Given the description of an element on the screen output the (x, y) to click on. 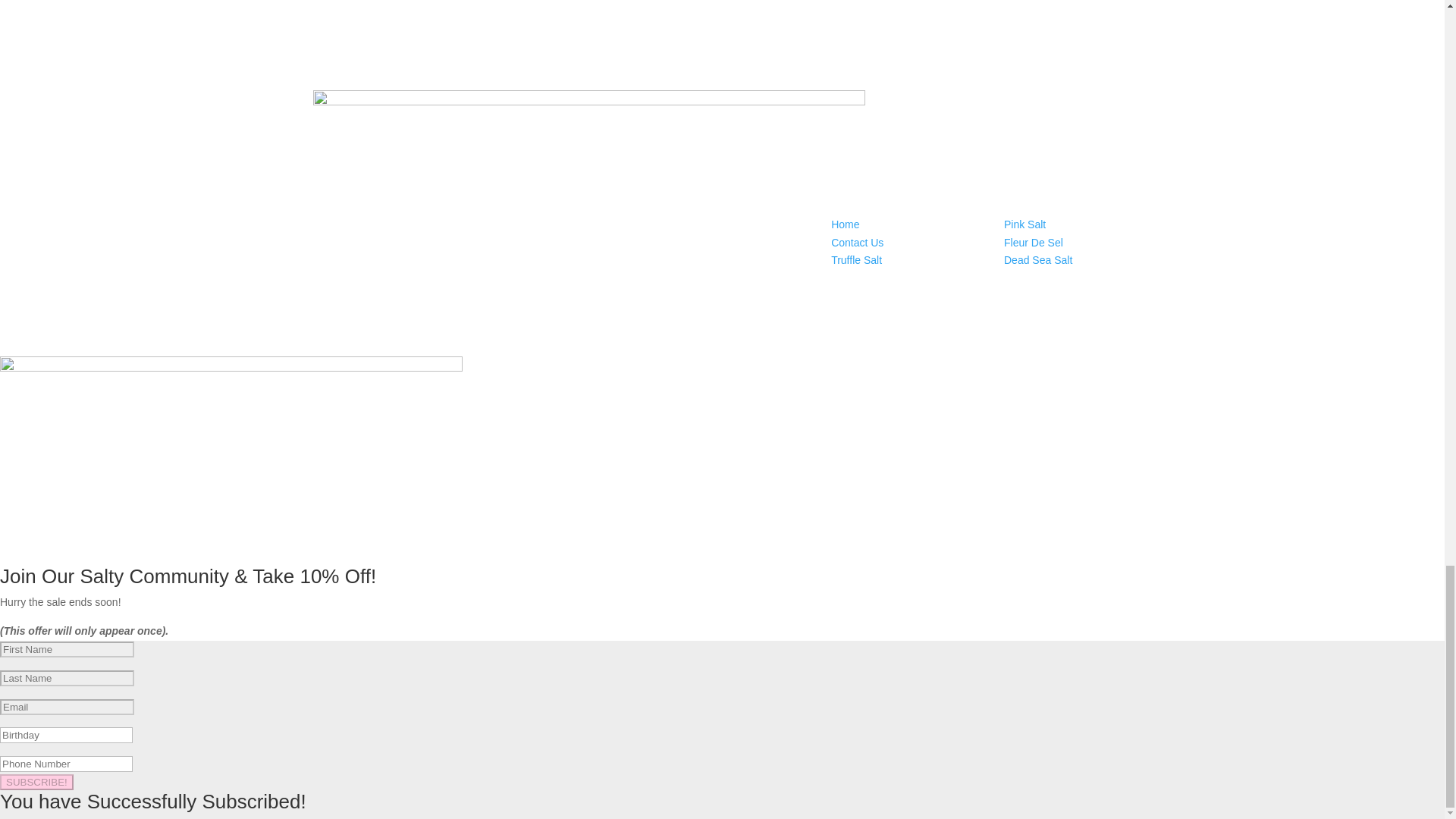
Fleur De Sel (1033, 242)
Pink Salt (1024, 224)
Home (845, 224)
Dead Sea Salt (1037, 259)
SUBSCRIBE! (37, 781)
Truffle Salt (856, 259)
Try our Current Special (721, 48)
Contact Us (857, 242)
